Given the description of an element on the screen output the (x, y) to click on. 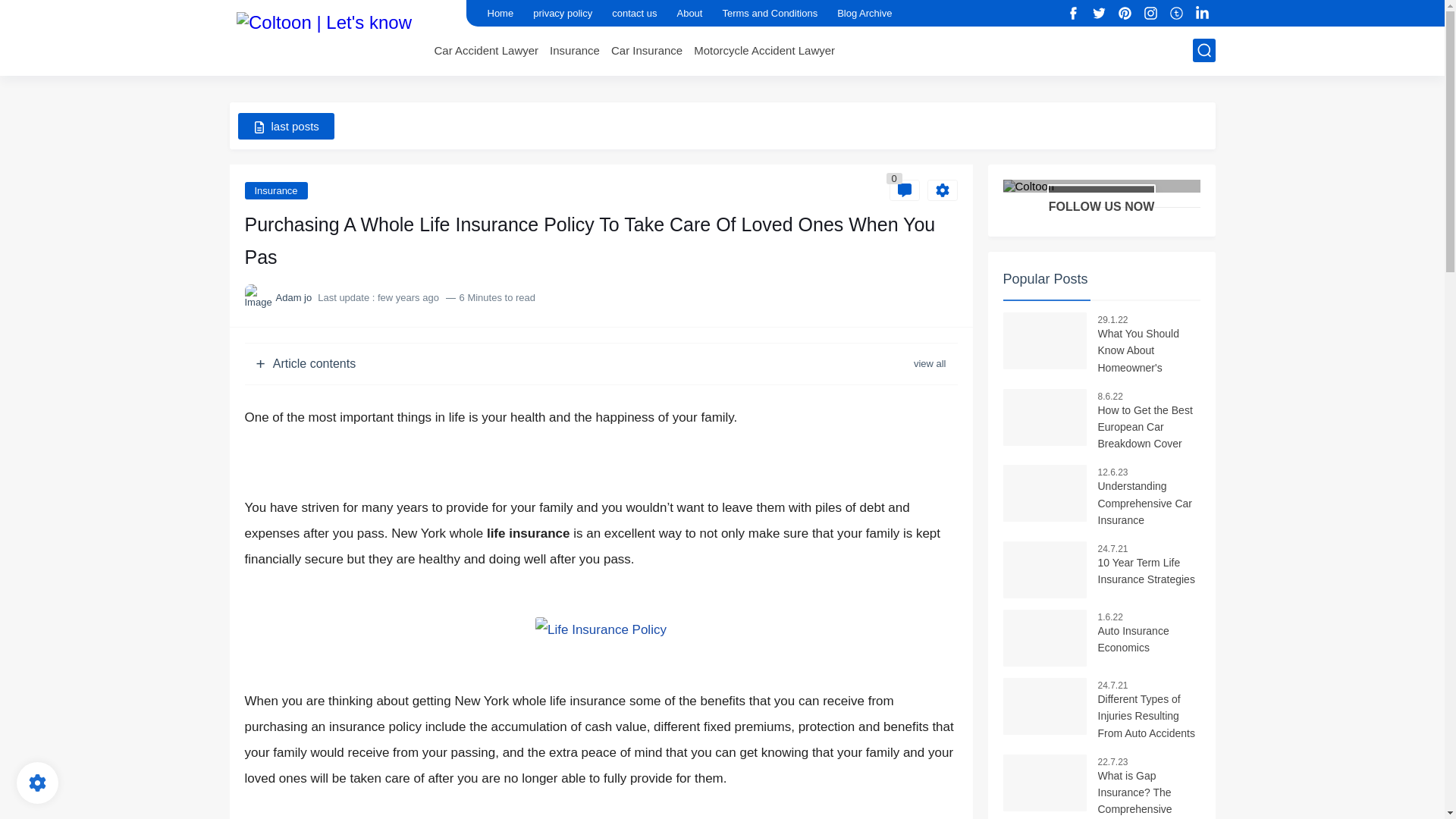
twitter (1099, 13)
Insurance (275, 190)
Insurance (574, 50)
Motorcycle Accident Lawyer (764, 50)
pinterest (1125, 13)
Car Insurance (646, 50)
facebook (1073, 13)
About (688, 12)
Blog Archive (864, 12)
Insurance (574, 50)
Insurance (275, 190)
Car Insurance (646, 50)
contact us (633, 12)
privacy policy (562, 12)
Motorcycle Accident Lawyer (764, 50)
